Given the description of an element on the screen output the (x, y) to click on. 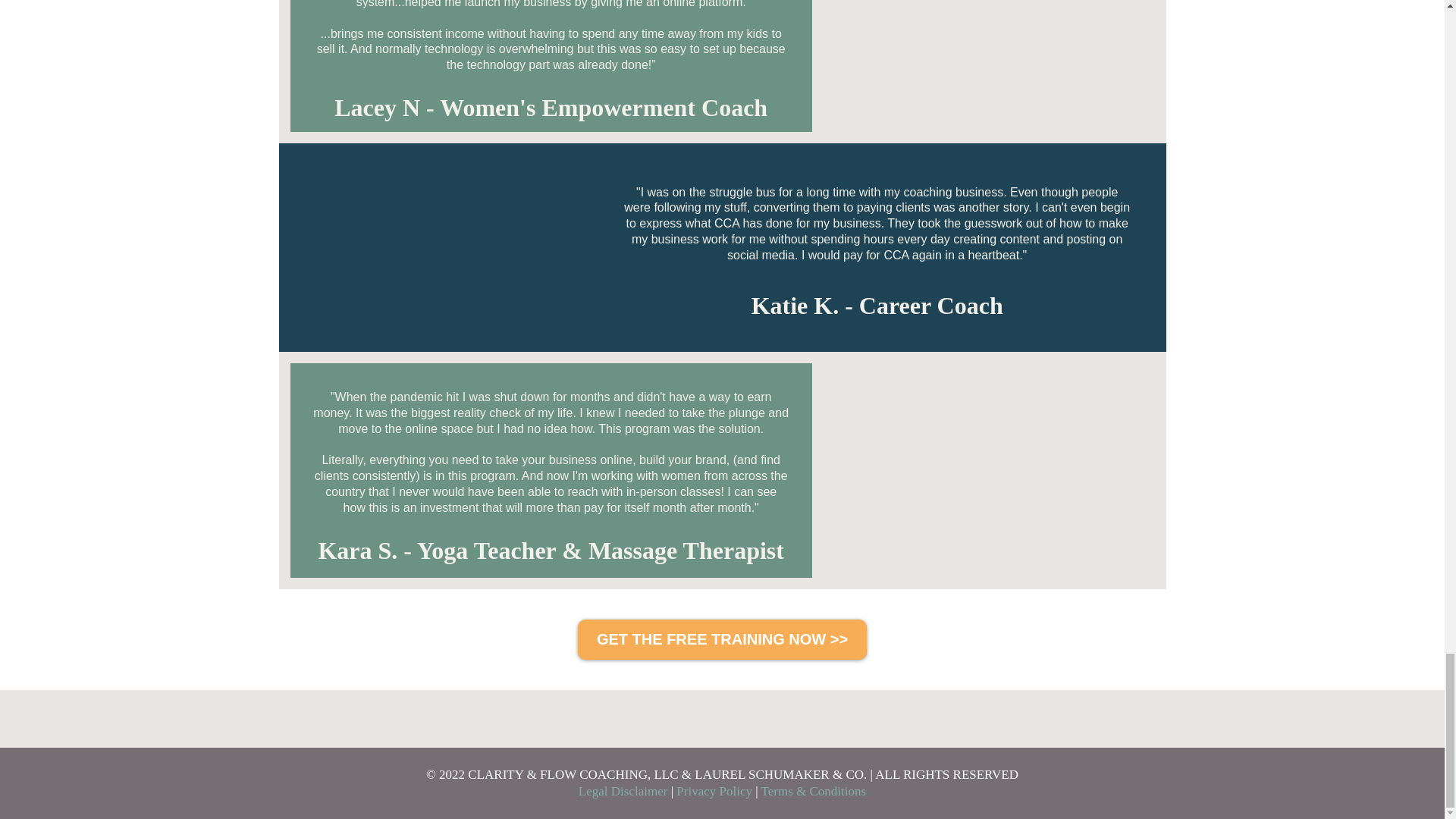
Legal Disclaimer (623, 790)
Privacy Policy (714, 790)
